Given the description of an element on the screen output the (x, y) to click on. 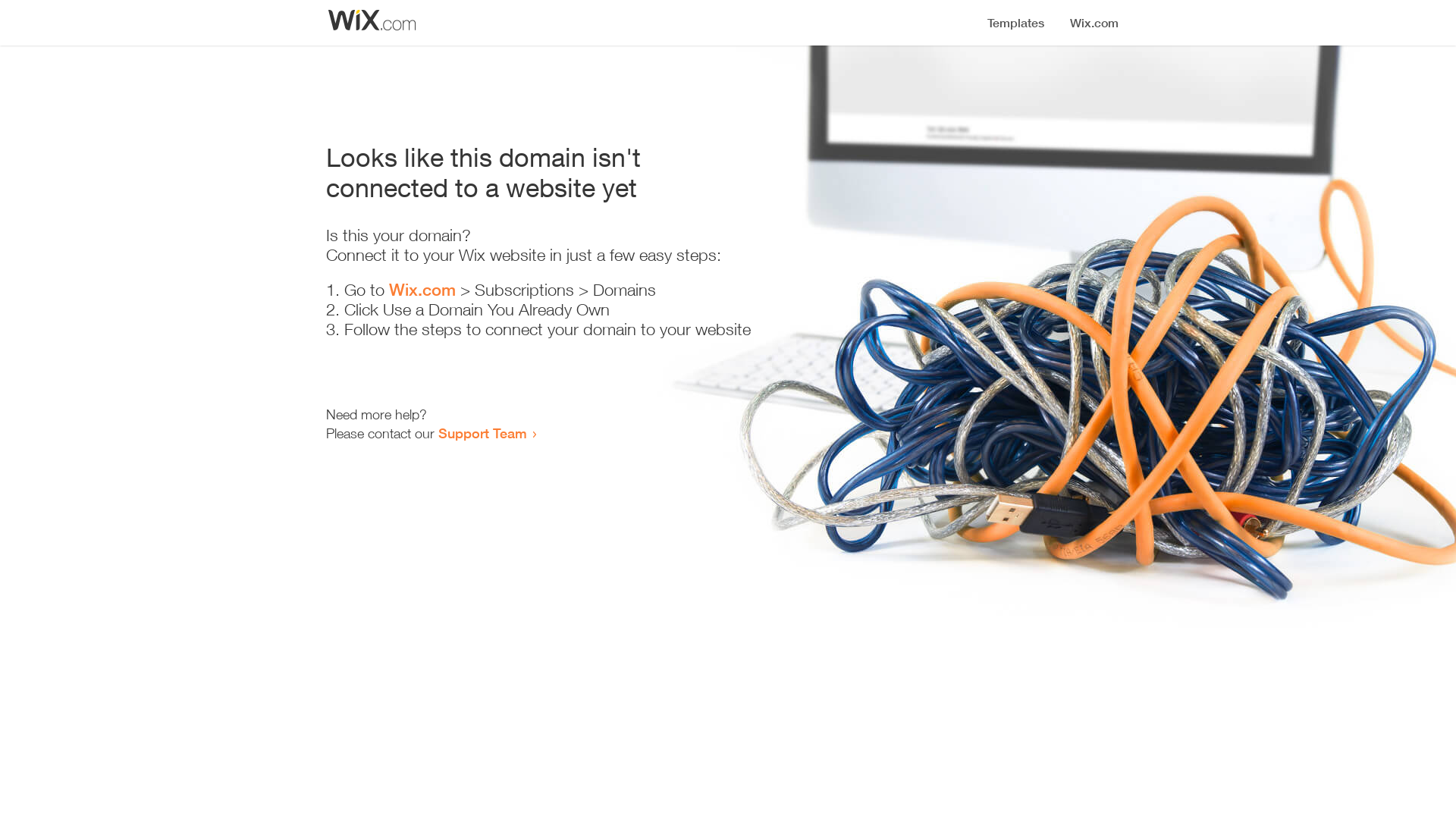
Wix.com Element type: text (422, 289)
Support Team Element type: text (482, 432)
